Given the description of an element on the screen output the (x, y) to click on. 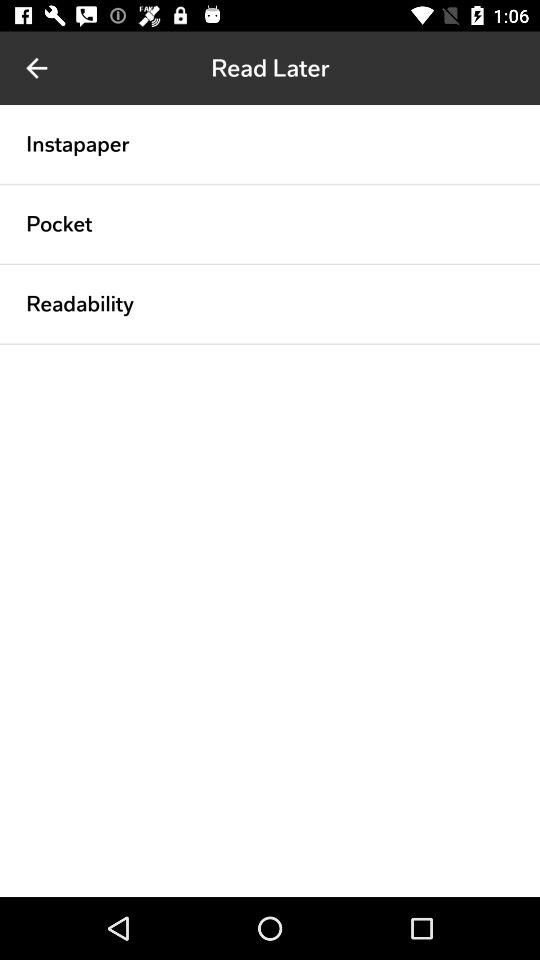
tap icon above readability icon (270, 264)
